Given the description of an element on the screen output the (x, y) to click on. 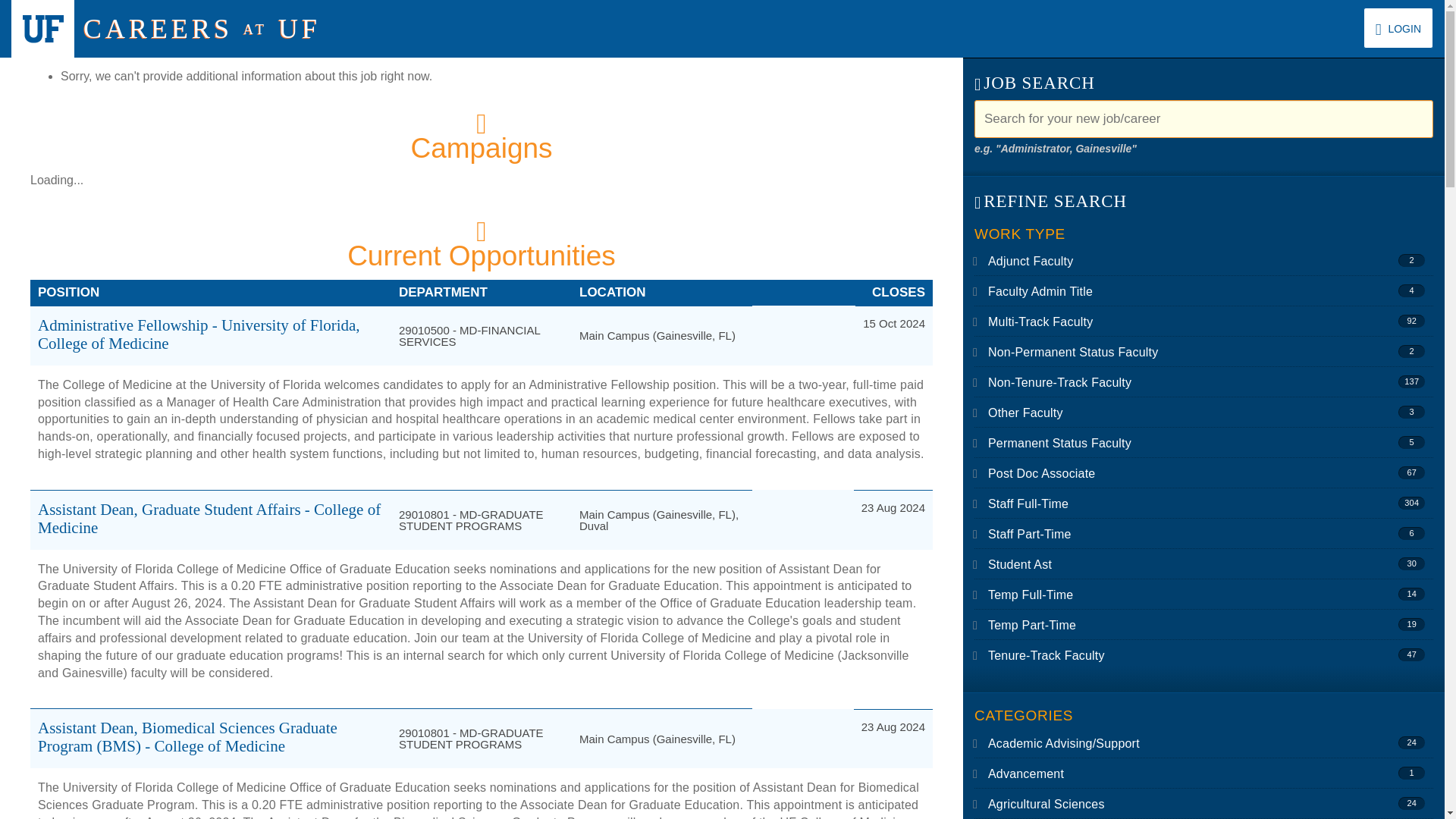
LOGIN (1397, 27)
CAREERS AT UF (201, 28)
